Given the description of an element on the screen output the (x, y) to click on. 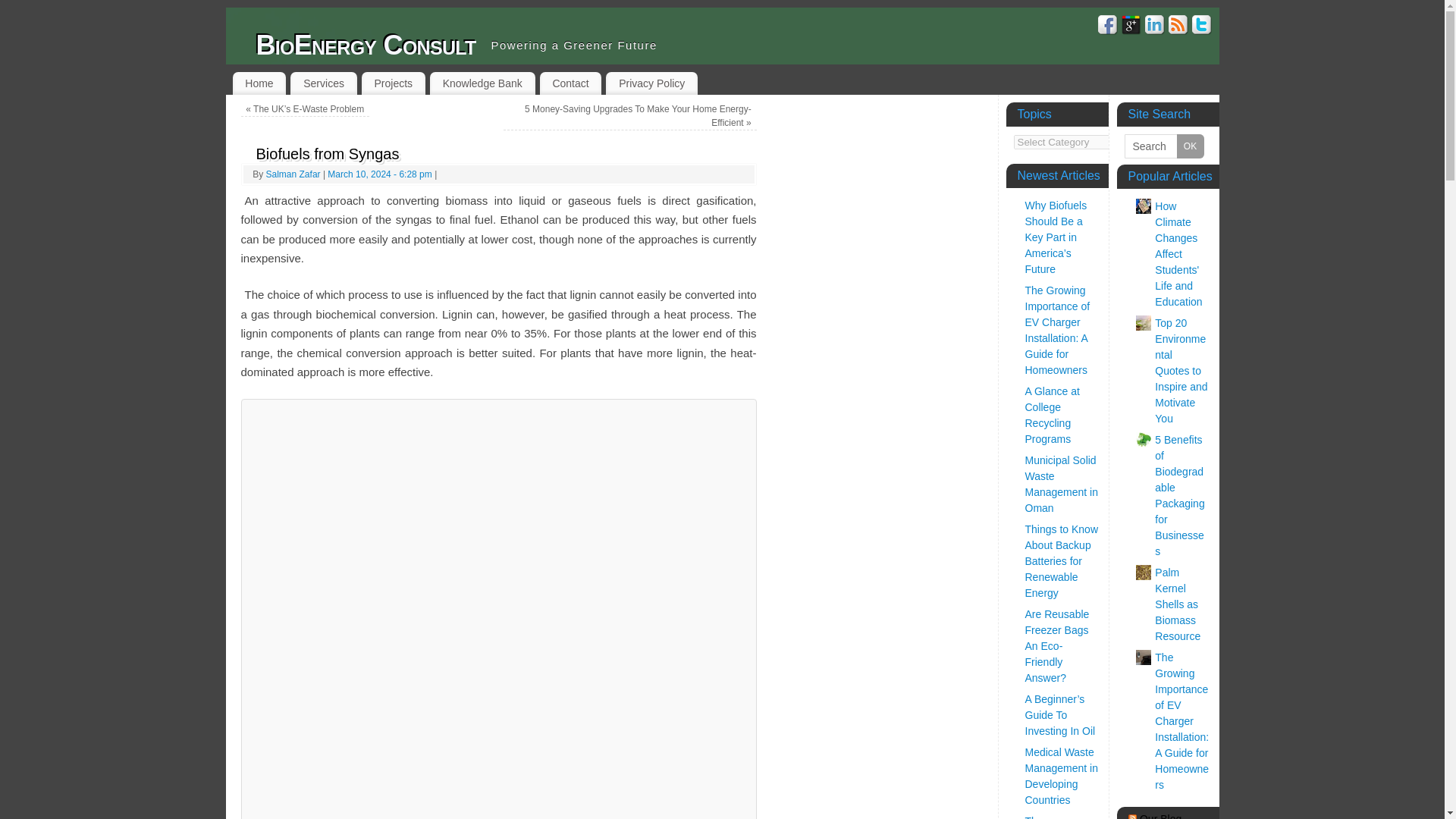
Privacy Policy (651, 83)
Contact (571, 83)
March 10, 2024 - 6:28 pm (378, 173)
Search (1164, 146)
Home (258, 83)
Projects (393, 83)
OK (1190, 146)
Salman Zafar (293, 173)
View all posts by Salman Zafar (293, 173)
BioEnergy Consult (366, 44)
6:28 pm (378, 173)
Knowledge Bank (482, 83)
Services (322, 83)
BioEnergy Consult (366, 44)
